Given the description of an element on the screen output the (x, y) to click on. 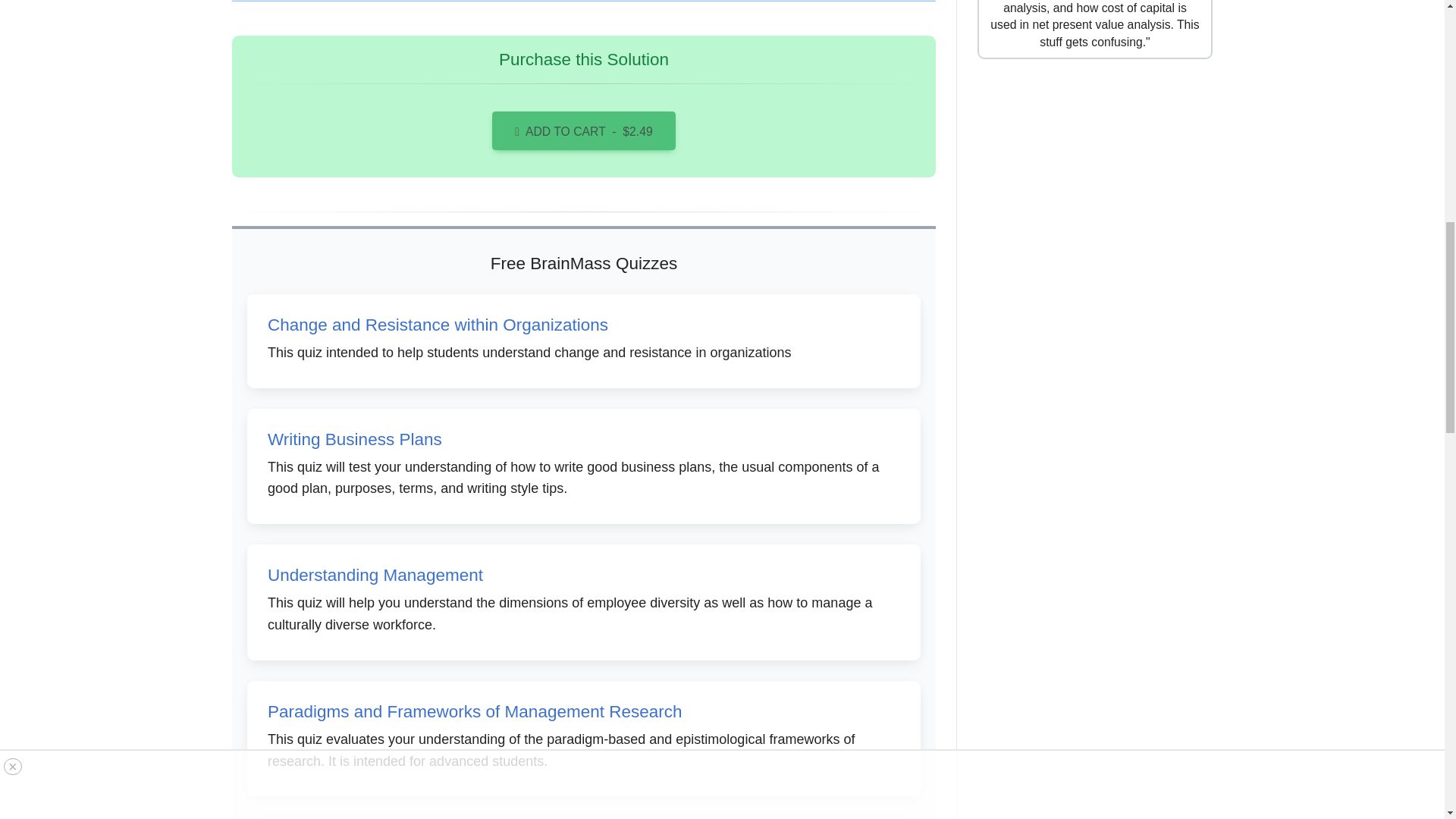
Change and Resistance within Organizations (437, 324)
Writing Business Plans (354, 438)
Understanding Management (375, 574)
Paradigms and Frameworks of Management Research (474, 711)
